Given the description of an element on the screen output the (x, y) to click on. 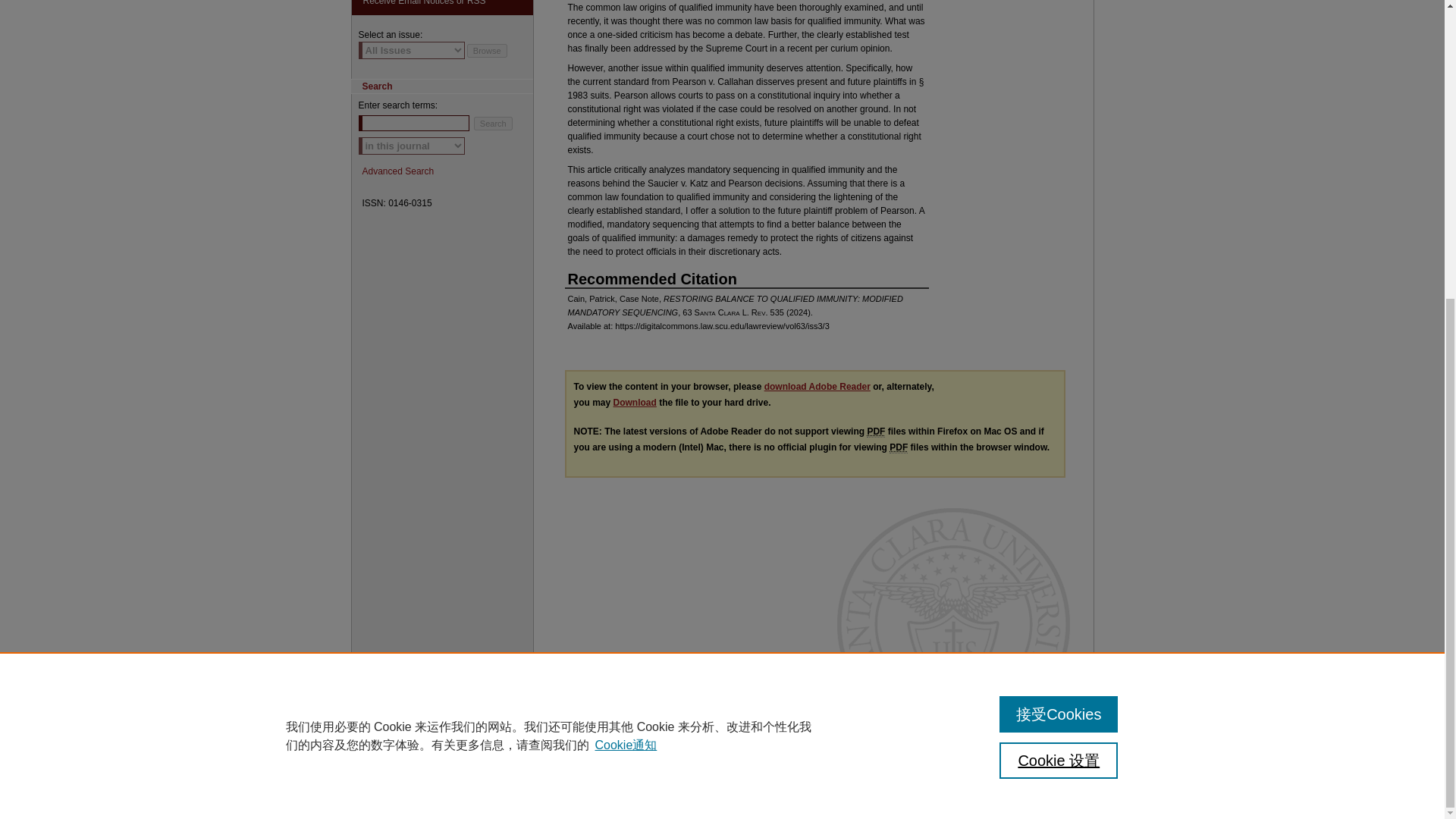
Search (493, 123)
Search (493, 123)
Adobe - Adobe Reader download (817, 386)
Portable Document Format (898, 447)
Portable Document Format (875, 431)
download Adobe Reader (817, 386)
Download (634, 402)
Browse (486, 50)
Browse (486, 50)
